Given the description of an element on the screen output the (x, y) to click on. 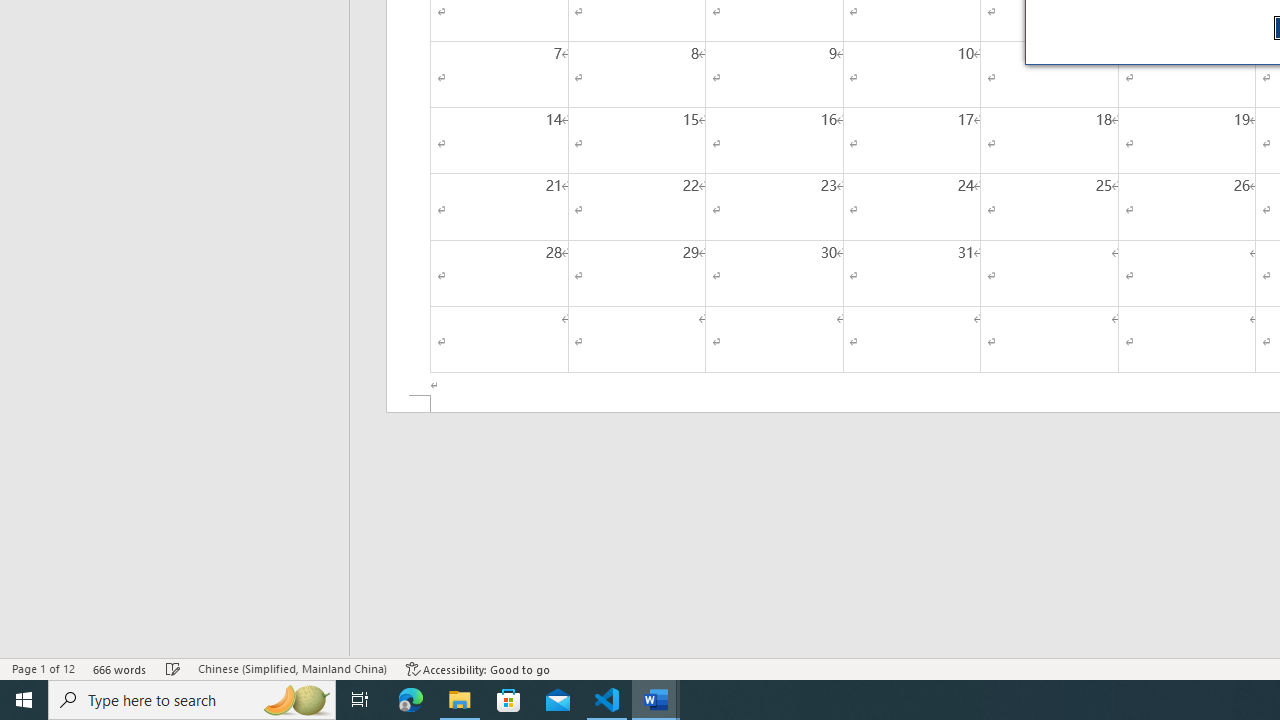
Task View (359, 699)
